Given the description of an element on the screen output the (x, y) to click on. 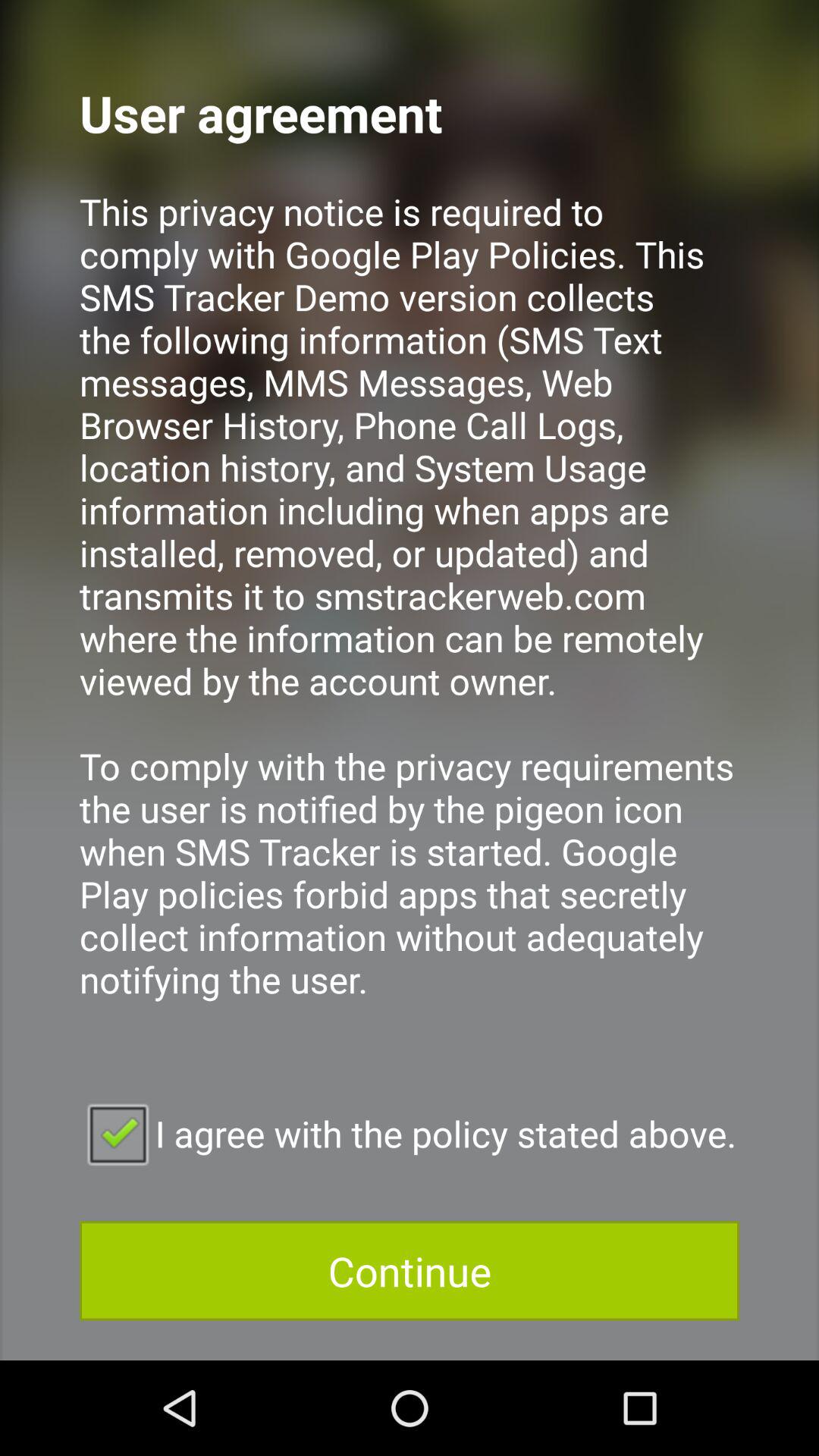
jump until this privacy notice icon (409, 616)
